Given the description of an element on the screen output the (x, y) to click on. 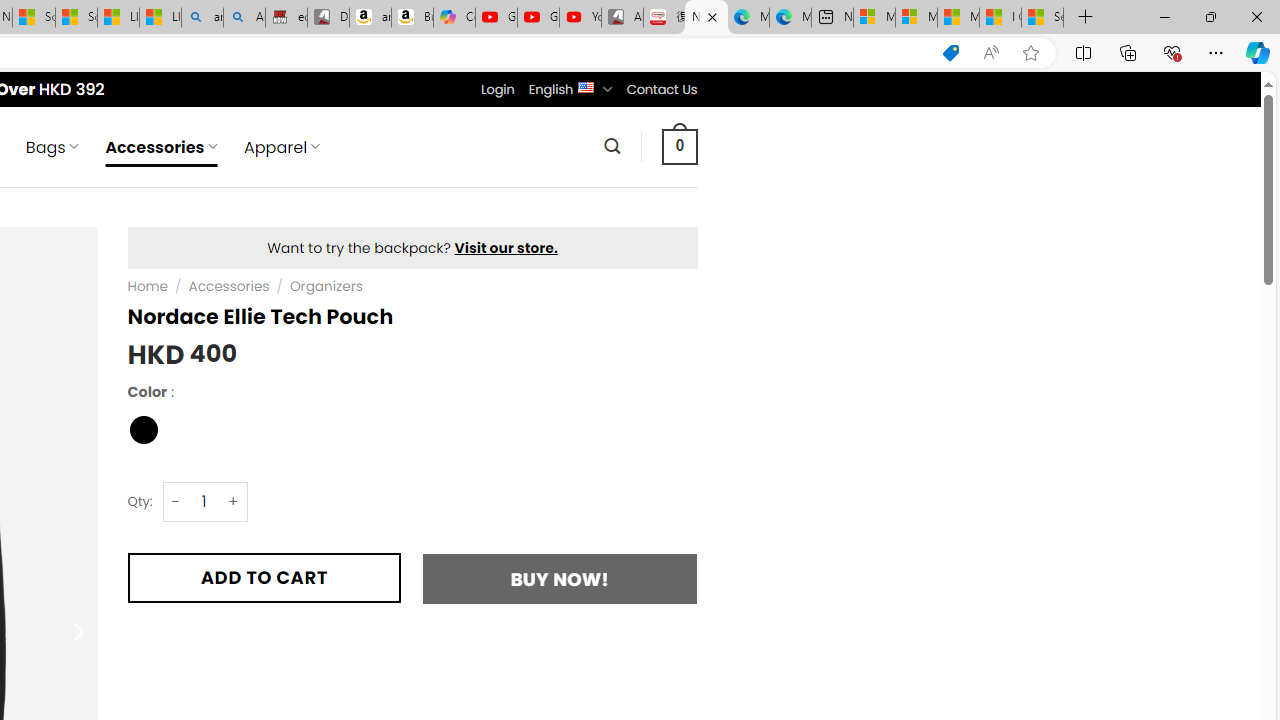
Amazon Echo Dot PNG - Search Images (244, 17)
+ (234, 501)
YouTube Kids - An App Created for Kids to Explore Content (580, 17)
English (586, 86)
  0   (679, 146)
